Given the description of an element on the screen output the (x, y) to click on. 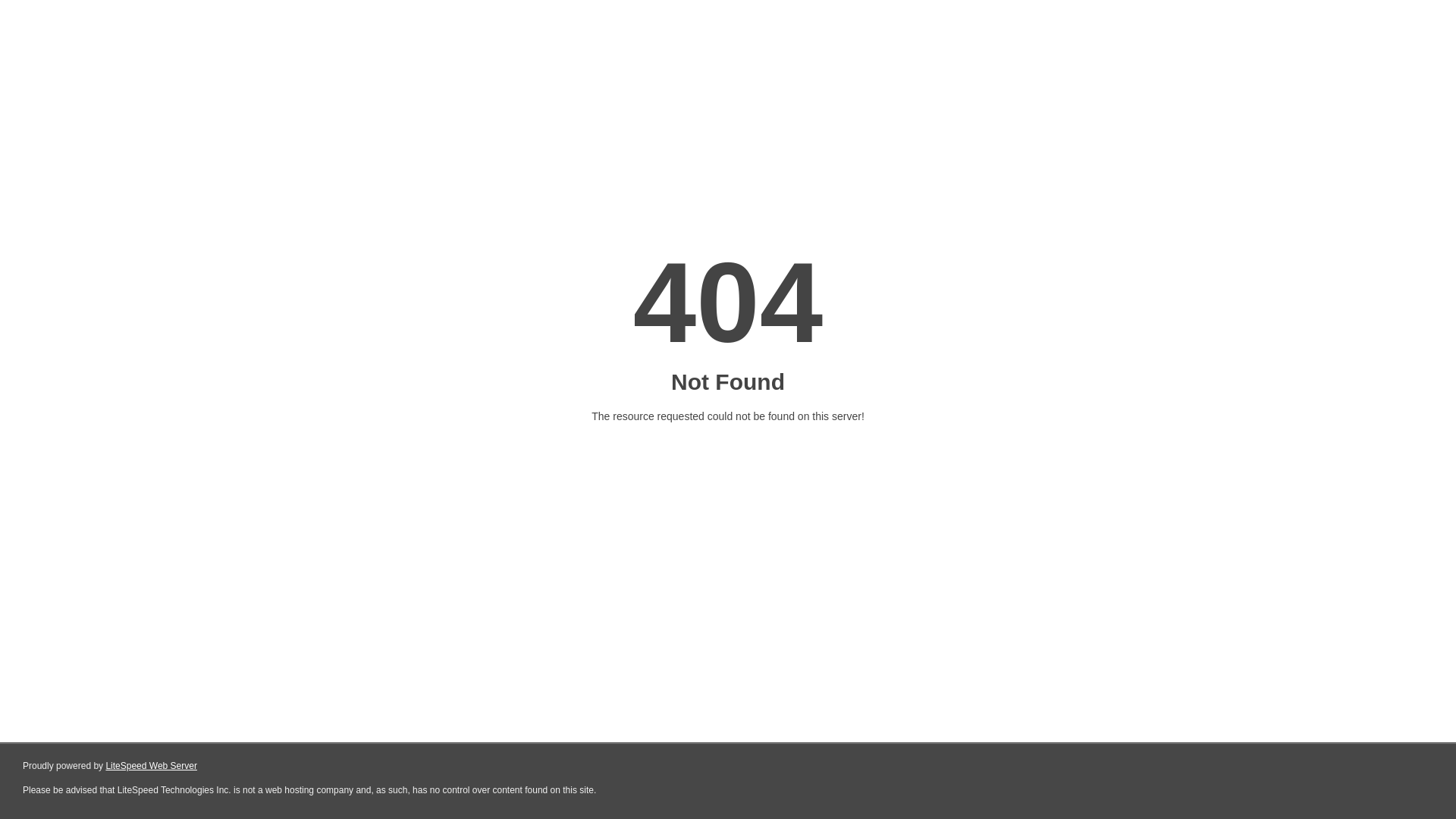
LiteSpeed Web Server Element type: text (151, 765)
